Given the description of an element on the screen output the (x, y) to click on. 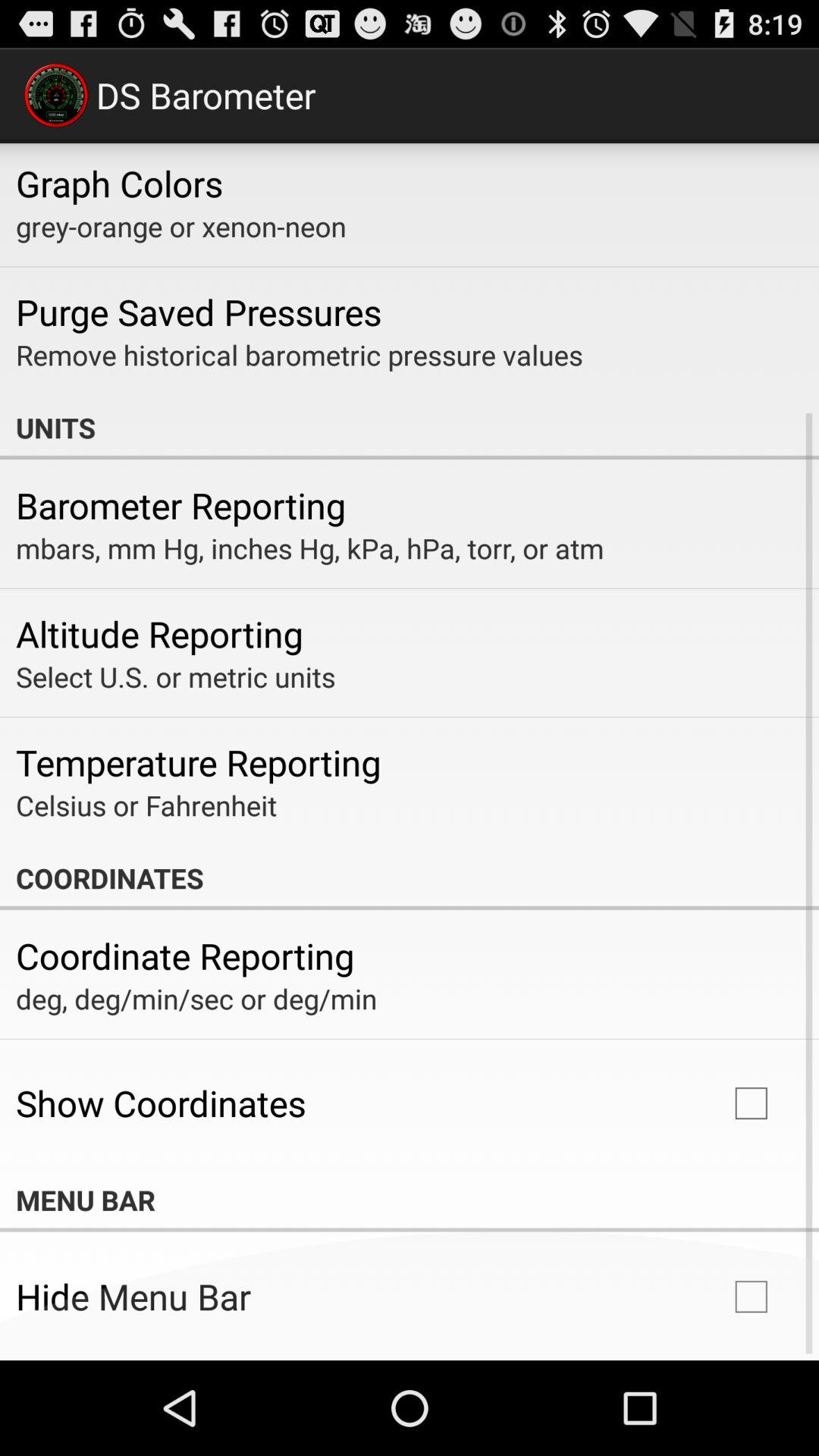
turn off app above temperature reporting app (175, 676)
